Given the description of an element on the screen output the (x, y) to click on. 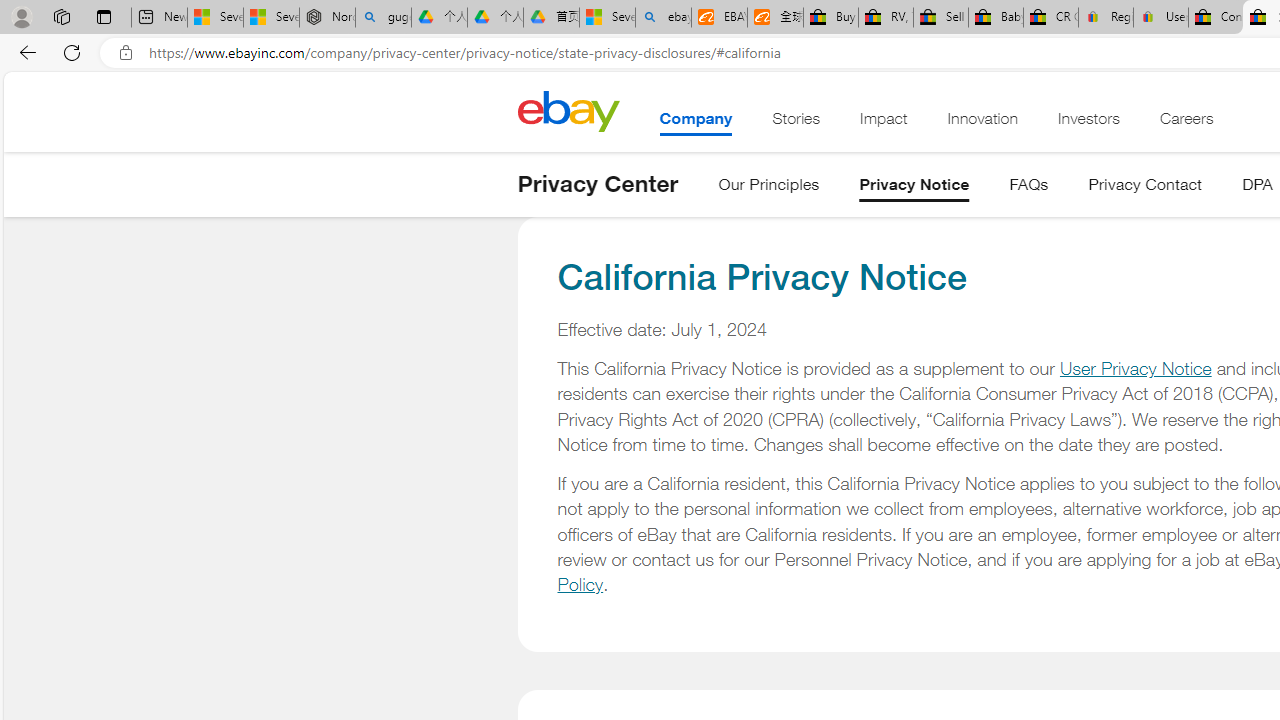
Privacy Notice (914, 188)
User Privacy Notice (1135, 368)
Our Principles (769, 188)
Privacy Contact (1145, 188)
User Privacy Notice | eBay (1160, 17)
Privacy Center (597, 183)
